Given the description of an element on the screen output the (x, y) to click on. 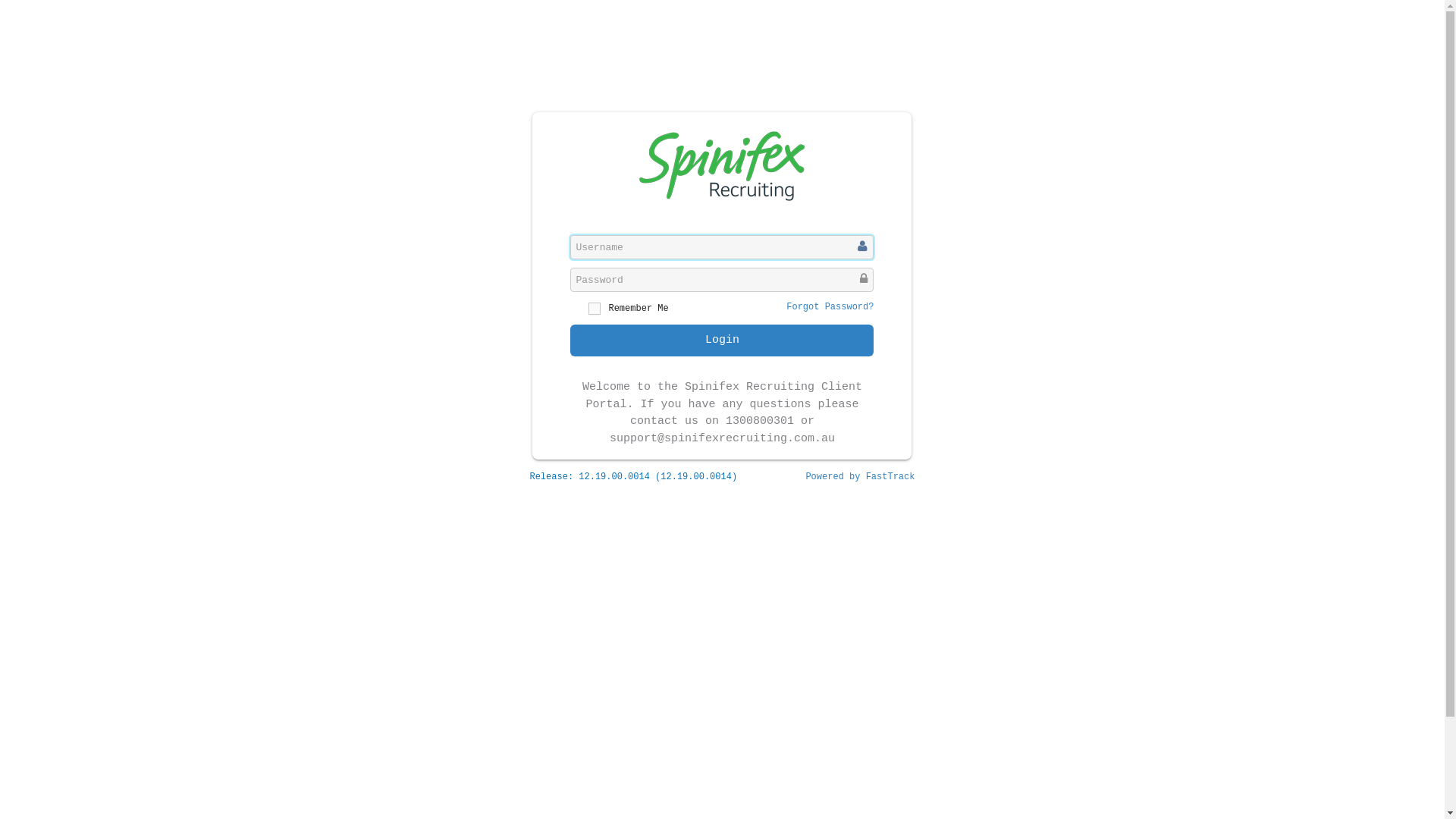
Forgot Password? Element type: text (829, 306)
Login Element type: text (721, 340)
Powered by FastTrack Element type: text (859, 476)
